Given the description of an element on the screen output the (x, y) to click on. 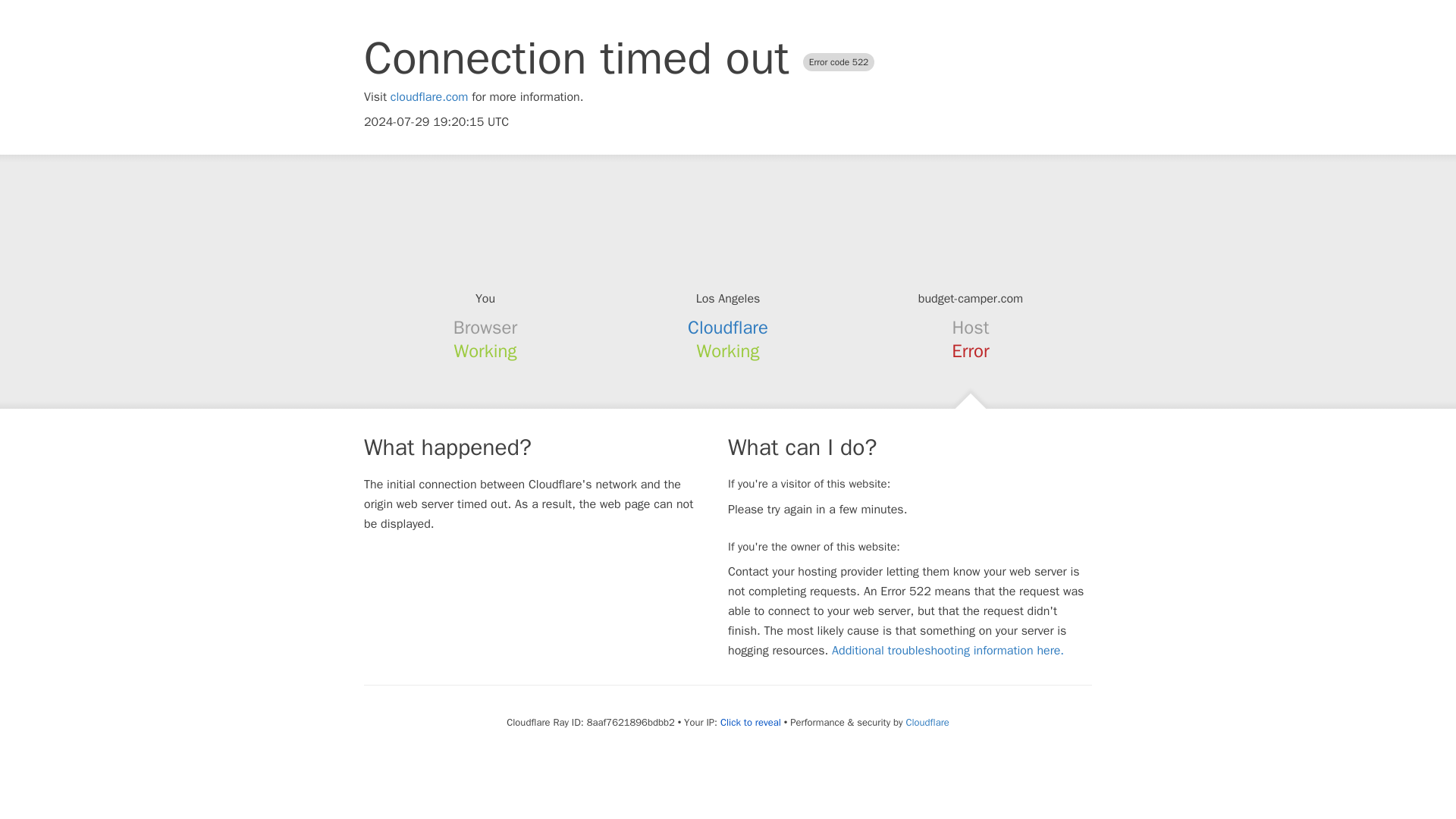
Click to reveal (750, 722)
cloudflare.com (429, 96)
Cloudflare (727, 327)
Cloudflare (927, 721)
Additional troubleshooting information here. (947, 650)
